Given the description of an element on the screen output the (x, y) to click on. 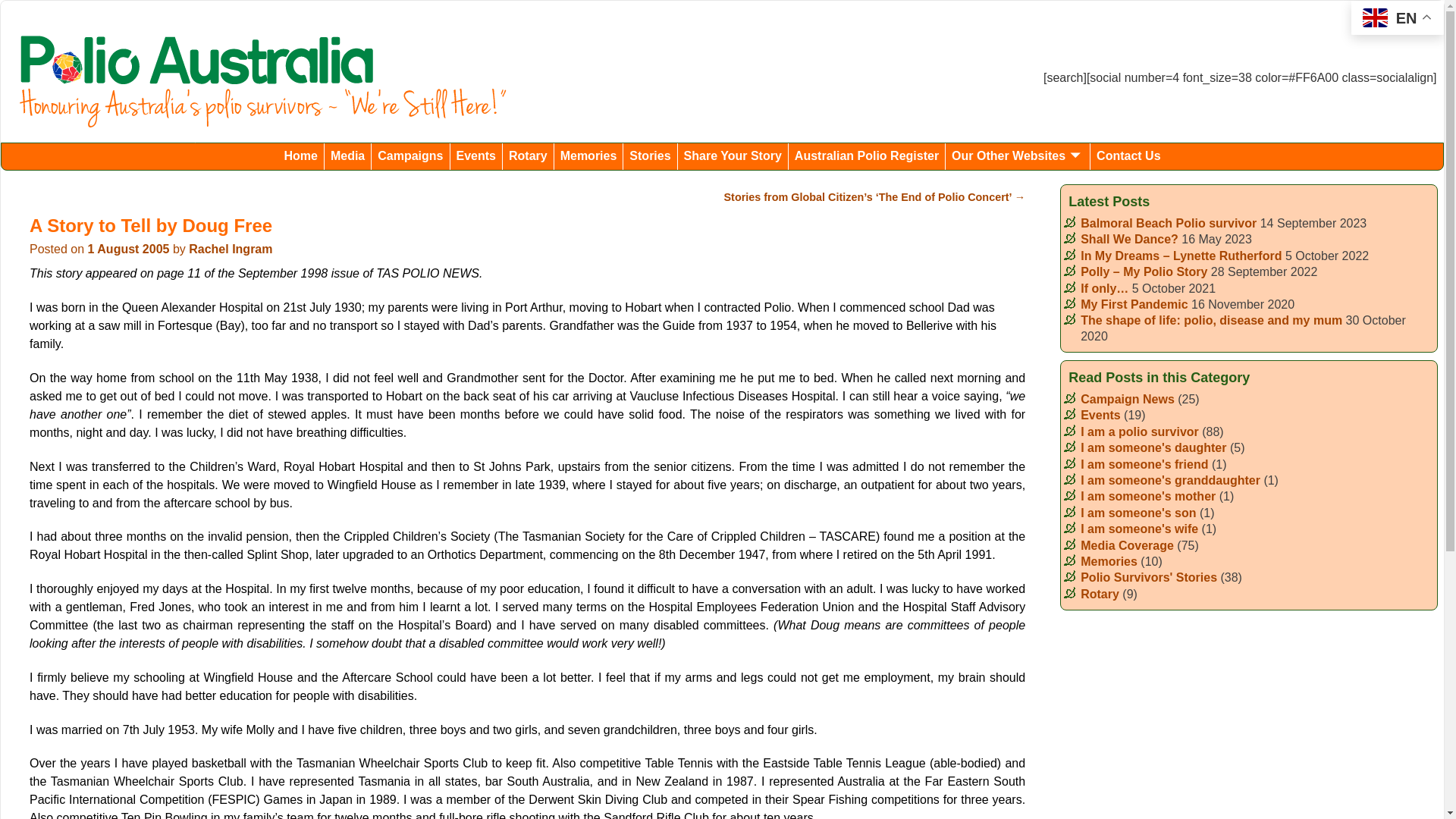
Contact Us Element type: text (1128, 156)
I am someone's wife Element type: text (1139, 528)
Polio Survivors' Stories Element type: text (1148, 577)
Rotary Element type: text (528, 156)
Rotary Element type: text (1099, 593)
Stories Element type: text (650, 156)
I am someone's granddaughter Element type: text (1170, 479)
Home Element type: text (300, 156)
I am someone's son Element type: text (1137, 512)
I am a polio survivor Element type: text (1139, 431)
Our Other Websites Element type: text (1017, 156)
The shape of life: polio, disease and my mum Element type: text (1211, 319)
Memories Element type: text (1108, 561)
Memories Element type: text (589, 156)
Media Coverage Element type: text (1126, 545)
Media Element type: text (347, 156)
Campaigns Element type: text (410, 156)
1 August 2005 Element type: text (128, 248)
I am someone's mother Element type: text (1147, 495)
Balmoral Beach Polio survivor Element type: text (1168, 222)
I am someone's friend Element type: text (1144, 464)
Rachel Ingram Element type: text (230, 248)
Events Element type: text (476, 156)
I am someone's daughter Element type: text (1153, 447)
My First Pandemic Element type: text (1133, 304)
Shall We Dance? Element type: text (1129, 238)
Campaign News Element type: text (1127, 398)
Events Element type: text (1100, 414)
Share Your Story Element type: text (732, 156)
Australian Polio Register Element type: text (866, 156)
